Given the description of an element on the screen output the (x, y) to click on. 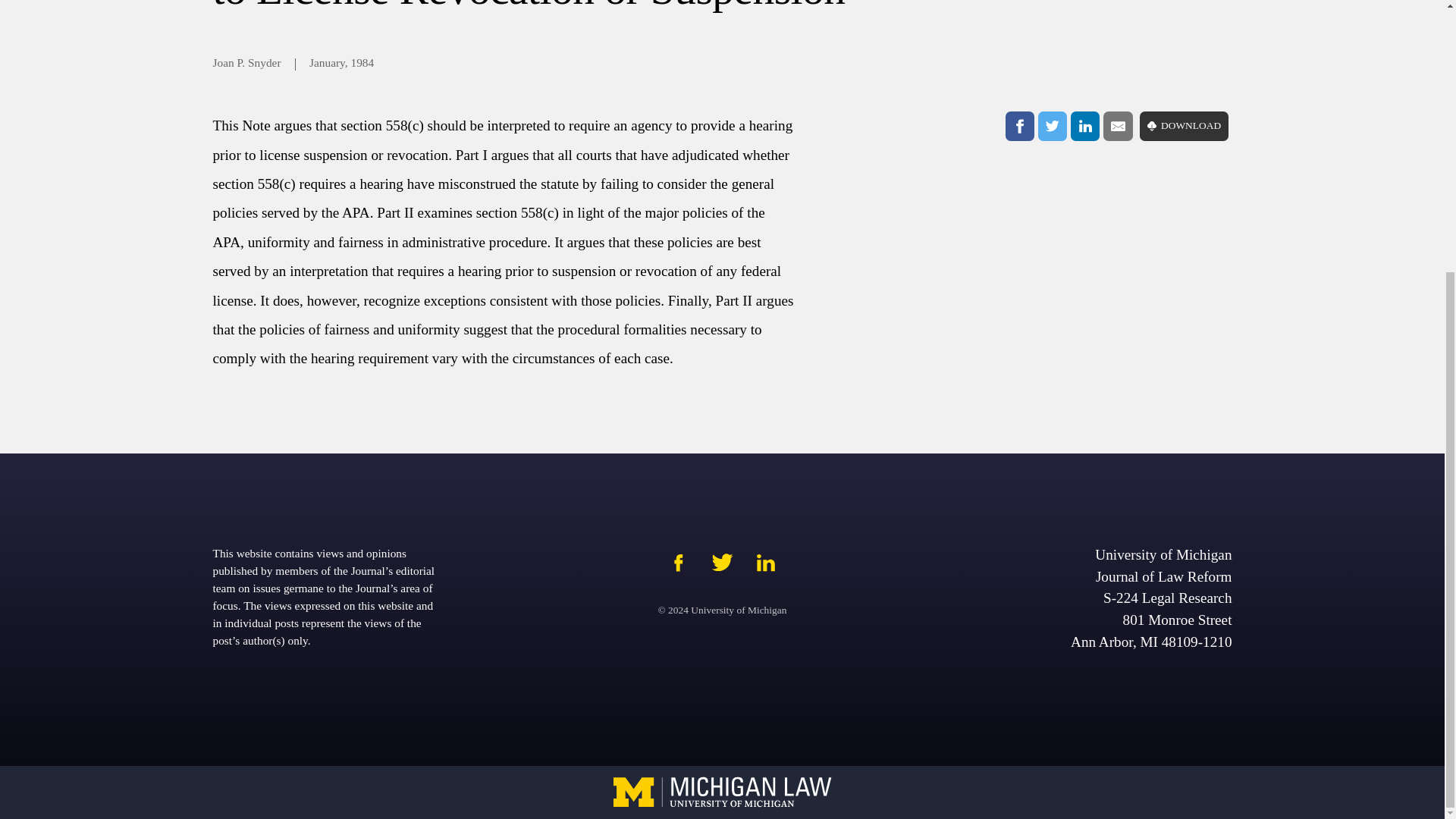
Twitter (1052, 125)
E-Mail (1117, 125)
LinkedIn (1084, 125)
Facebook (1019, 125)
DOWNLOAD (1184, 125)
